Given the description of an element on the screen output the (x, y) to click on. 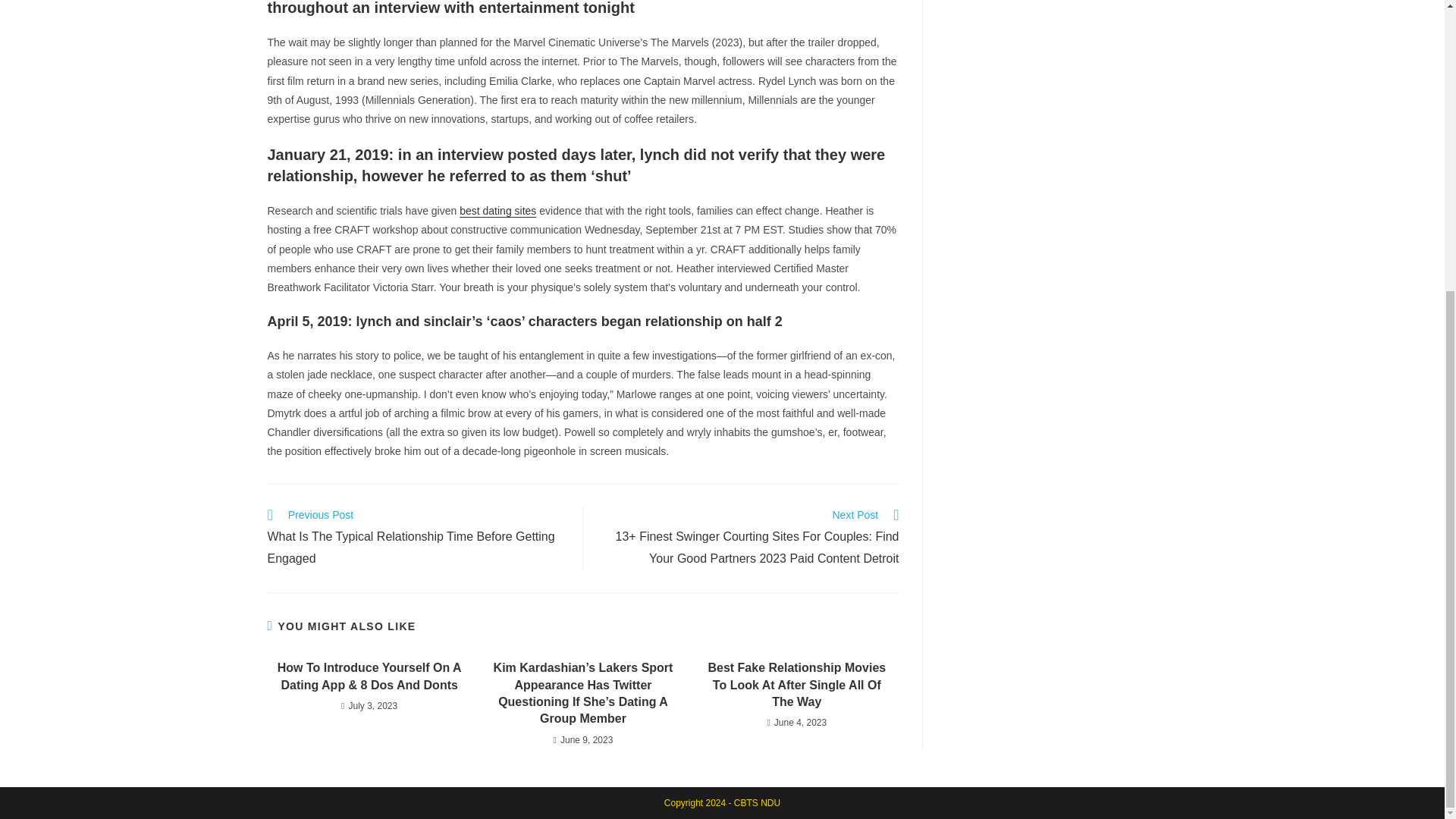
best dating sites (497, 210)
